Given the description of an element on the screen output the (x, y) to click on. 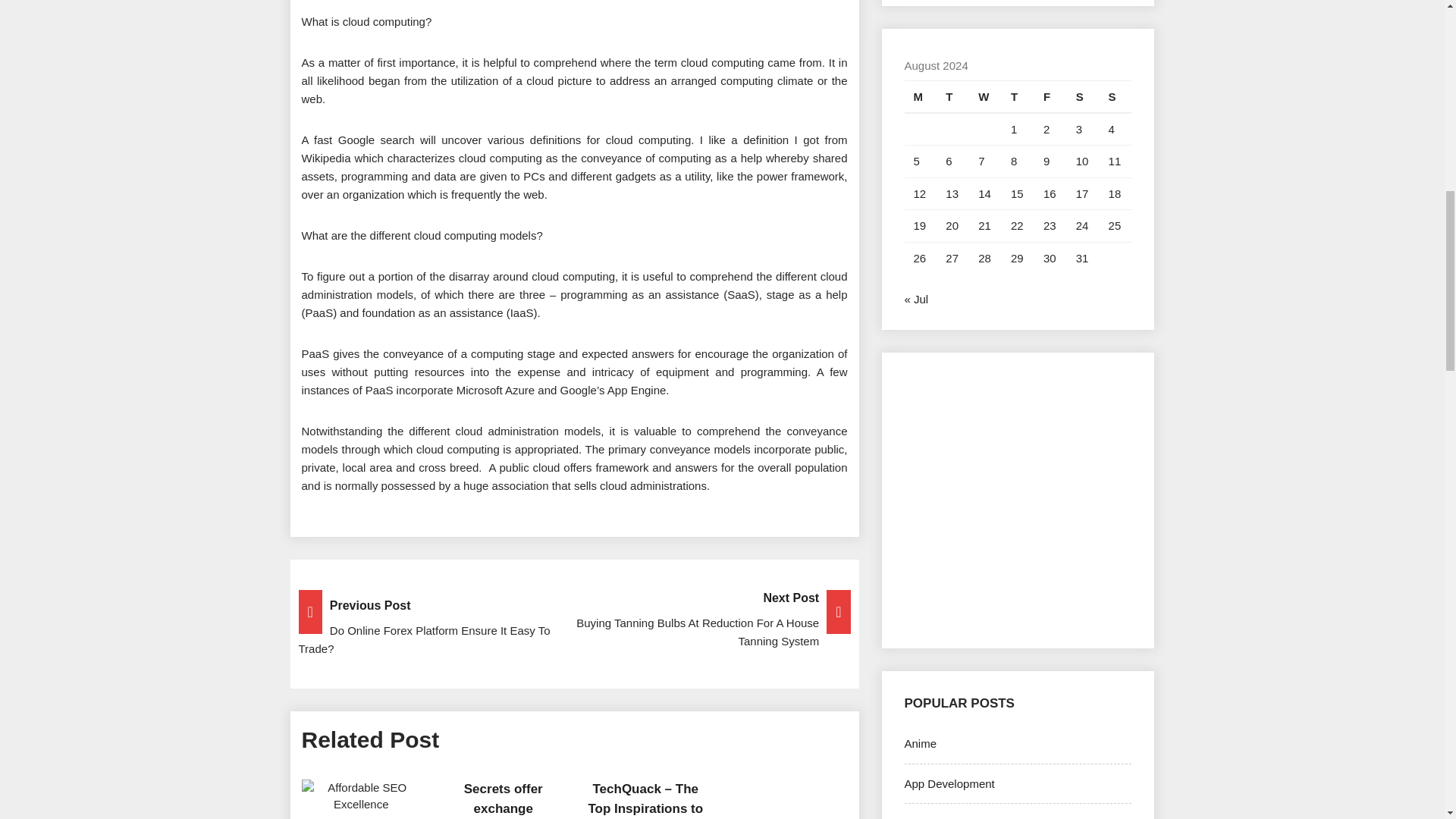
Saturday (1083, 96)
Monday (920, 96)
App Development (949, 783)
Application (931, 817)
Tuesday (952, 96)
Sunday (1115, 96)
Wednesday (985, 96)
Friday (1050, 96)
Anime (920, 743)
Thursday (1017, 96)
